Given the description of an element on the screen output the (x, y) to click on. 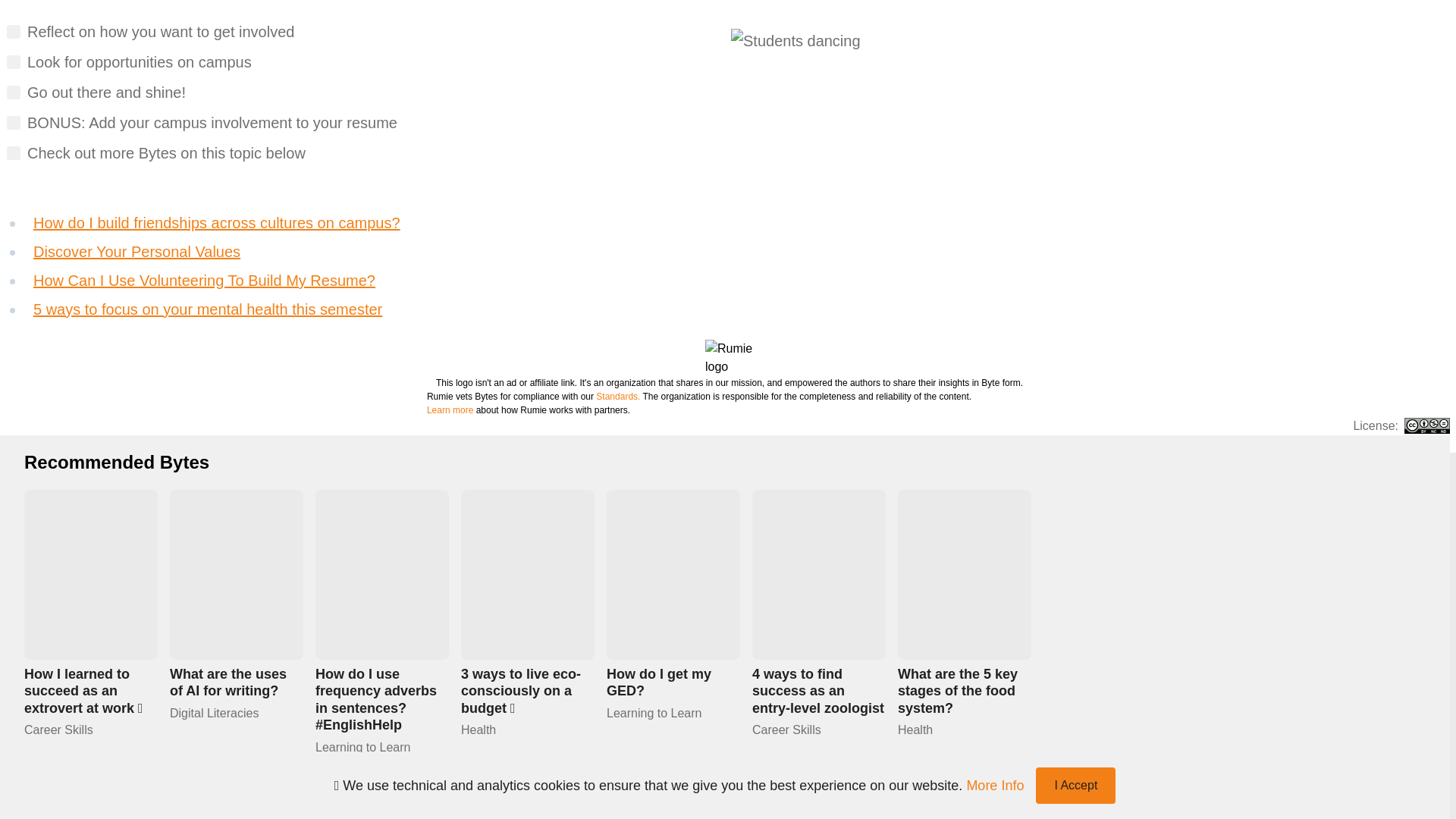
on (13, 92)
on (13, 61)
on (13, 31)
on (13, 152)
on (13, 122)
